Given the description of an element on the screen output the (x, y) to click on. 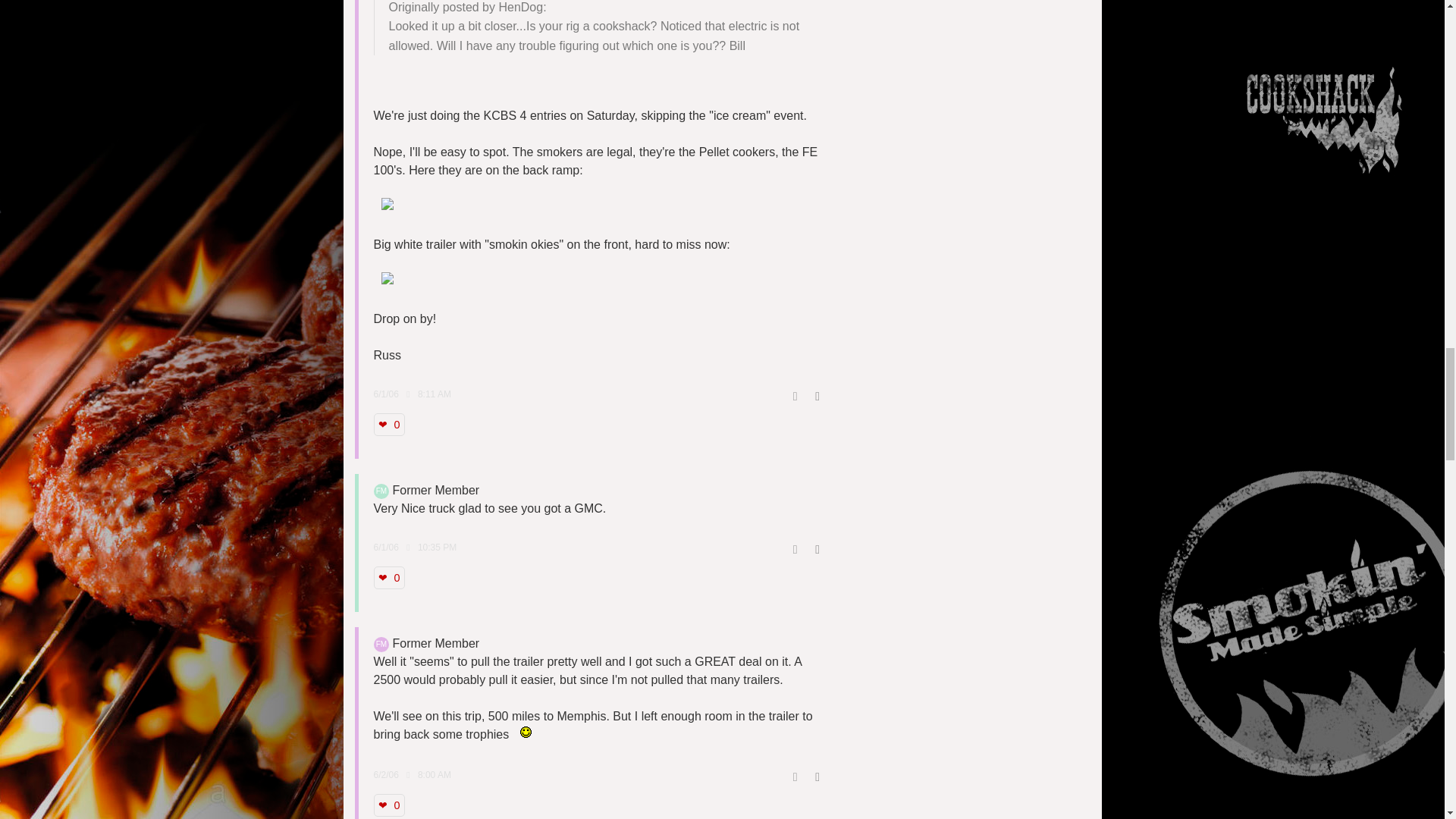
FM (380, 644)
FM (380, 491)
